Given the description of an element on the screen output the (x, y) to click on. 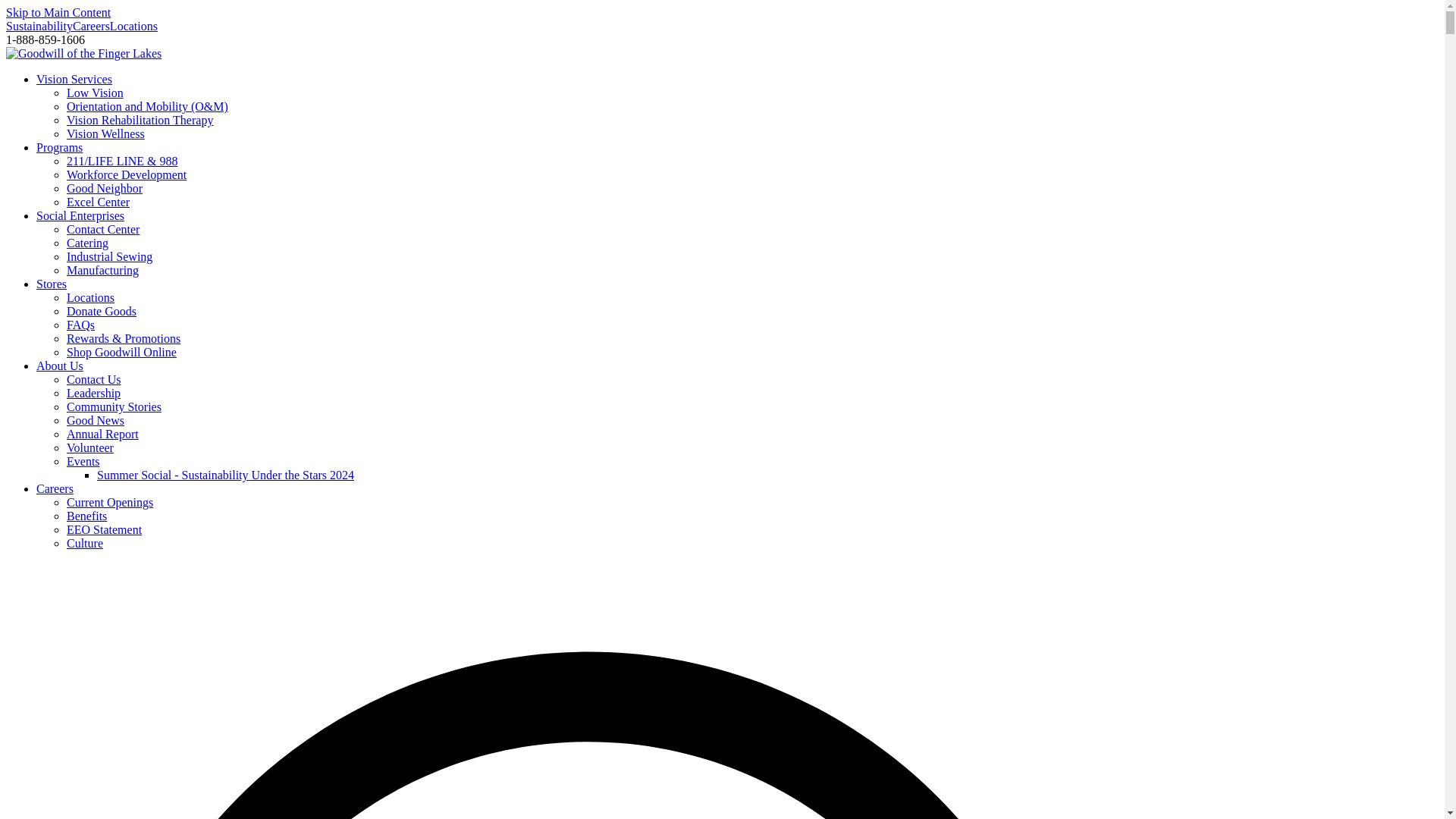
Careers (91, 25)
About Us (59, 365)
Stores (51, 283)
Good Neighbor (104, 187)
Benefits (86, 515)
Careers (55, 488)
Community Stories (113, 406)
Vision Services (74, 78)
Locations (90, 297)
Summer Social - Sustainability Under the Stars 2024 (225, 474)
